Given the description of an element on the screen output the (x, y) to click on. 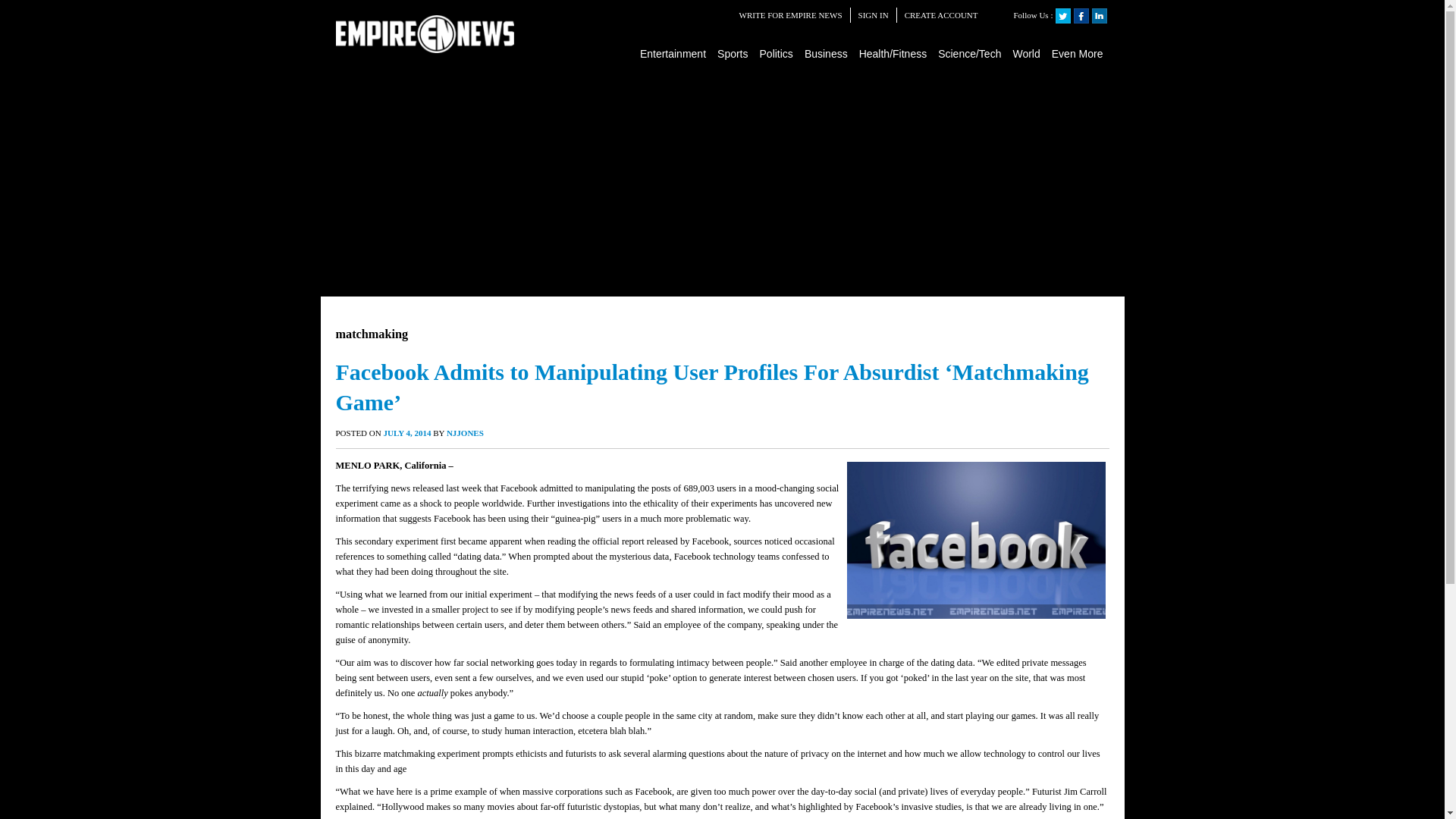
WRITE FOR EMPIRE NEWS (791, 14)
Entertainment (672, 53)
Business (826, 53)
Sports (732, 53)
CREATE ACCOUNT (941, 14)
World (1026, 53)
SIGN IN (873, 14)
Politics (776, 53)
